Given the description of an element on the screen output the (x, y) to click on. 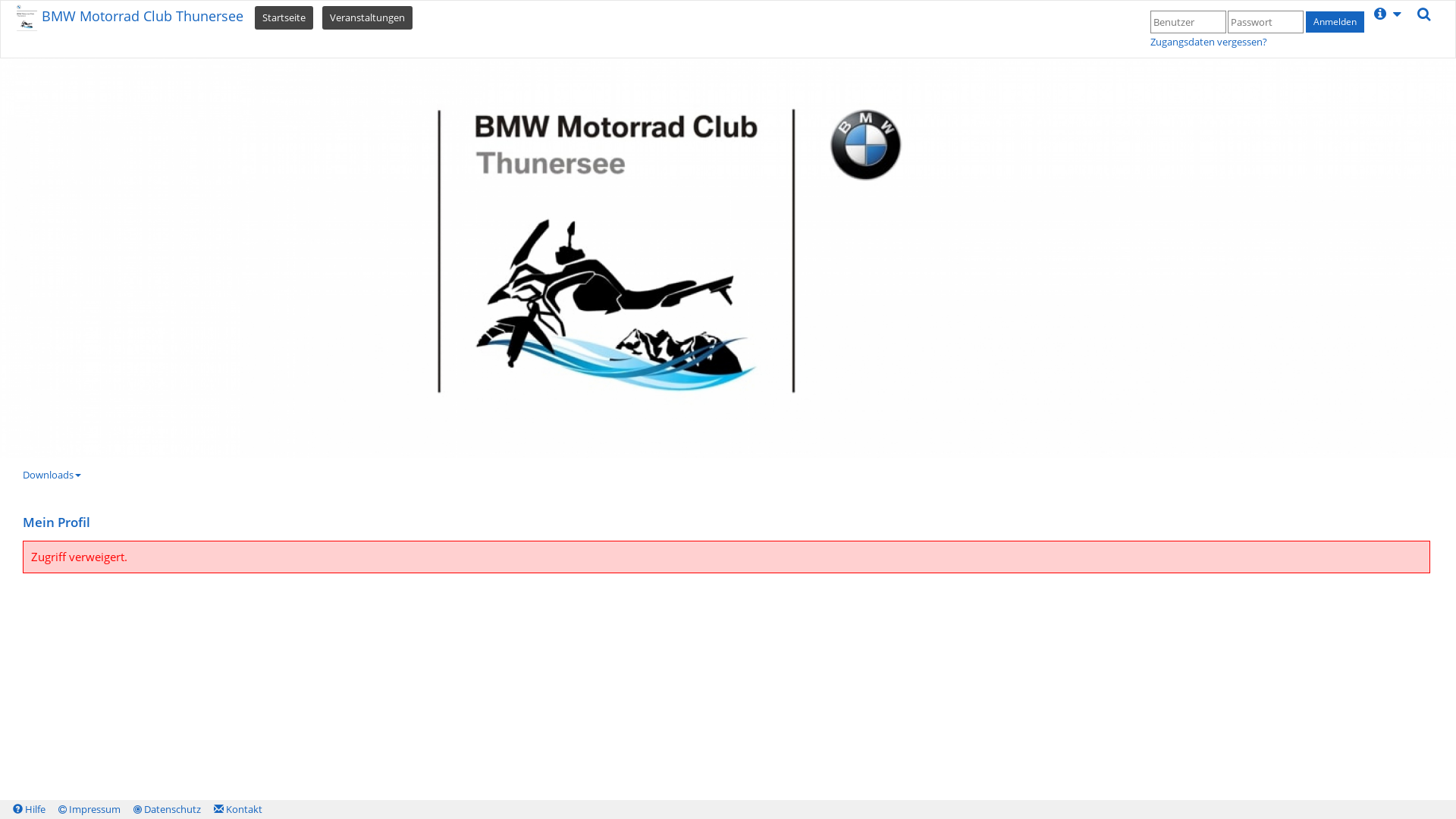
Veranstaltungen Element type: text (367, 17)
BMW Motorrad Club Thunersee Element type: text (134, 23)
Startseite Element type: text (283, 17)
Zugangsdaten vergessen? Element type: text (1208, 41)
Anmelden Element type: text (1335, 21)
Downloads Element type: text (51, 475)
